Given the description of an element on the screen output the (x, y) to click on. 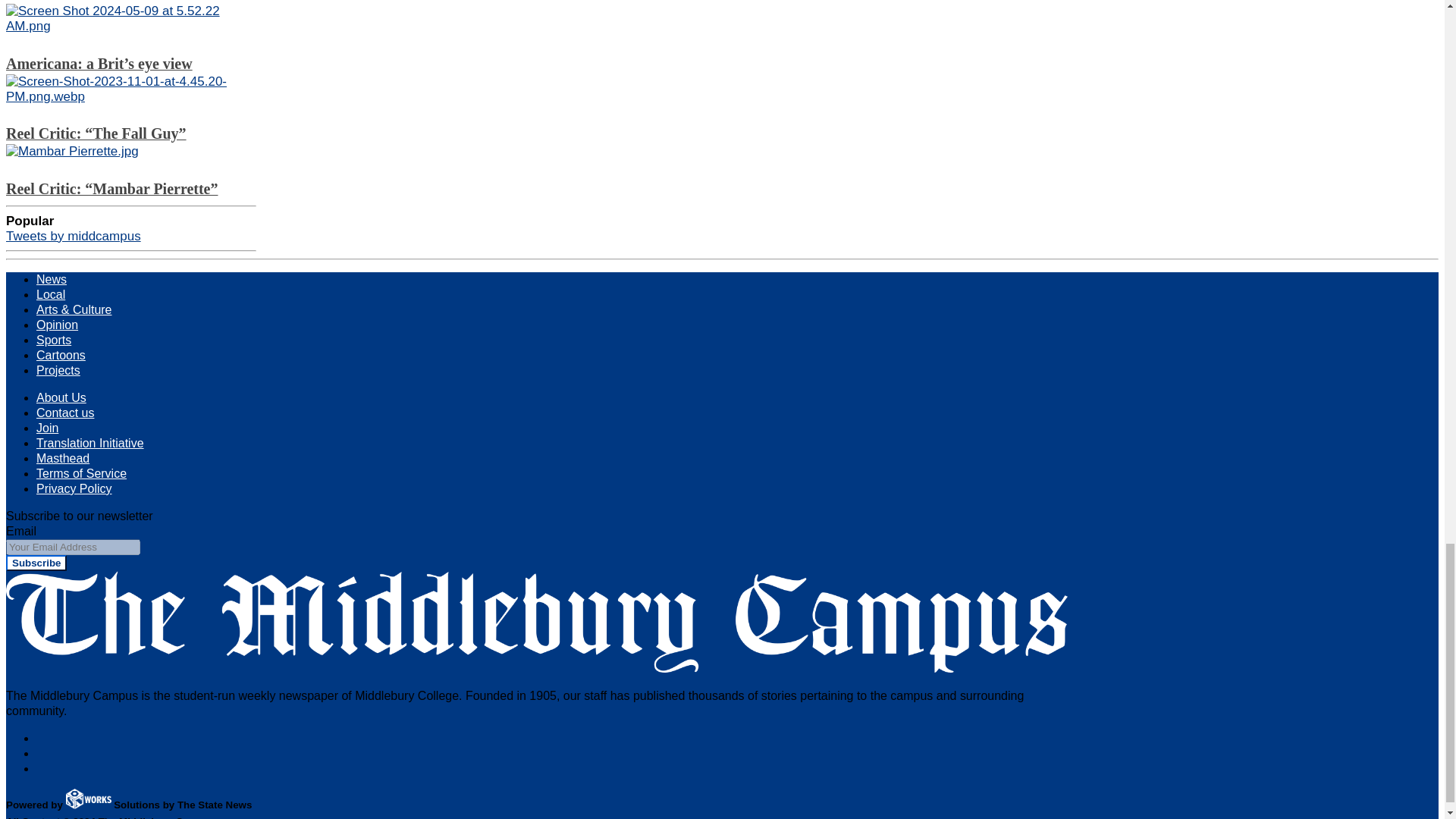
Subscribe (35, 562)
